Given the description of an element on the screen output the (x, y) to click on. 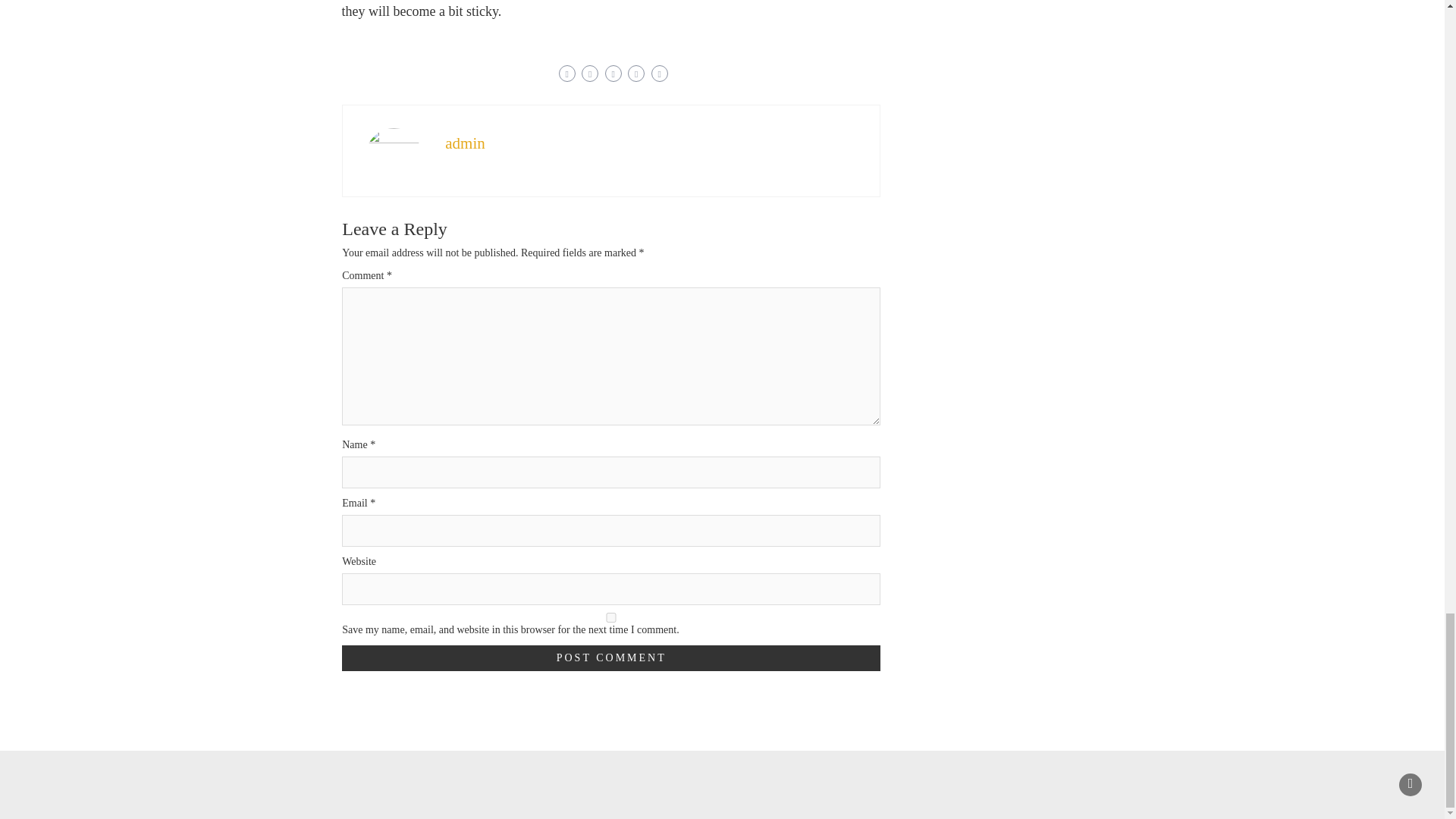
admin (464, 143)
Post Comment (611, 657)
Post Comment (611, 657)
yes (611, 617)
